Given the description of an element on the screen output the (x, y) to click on. 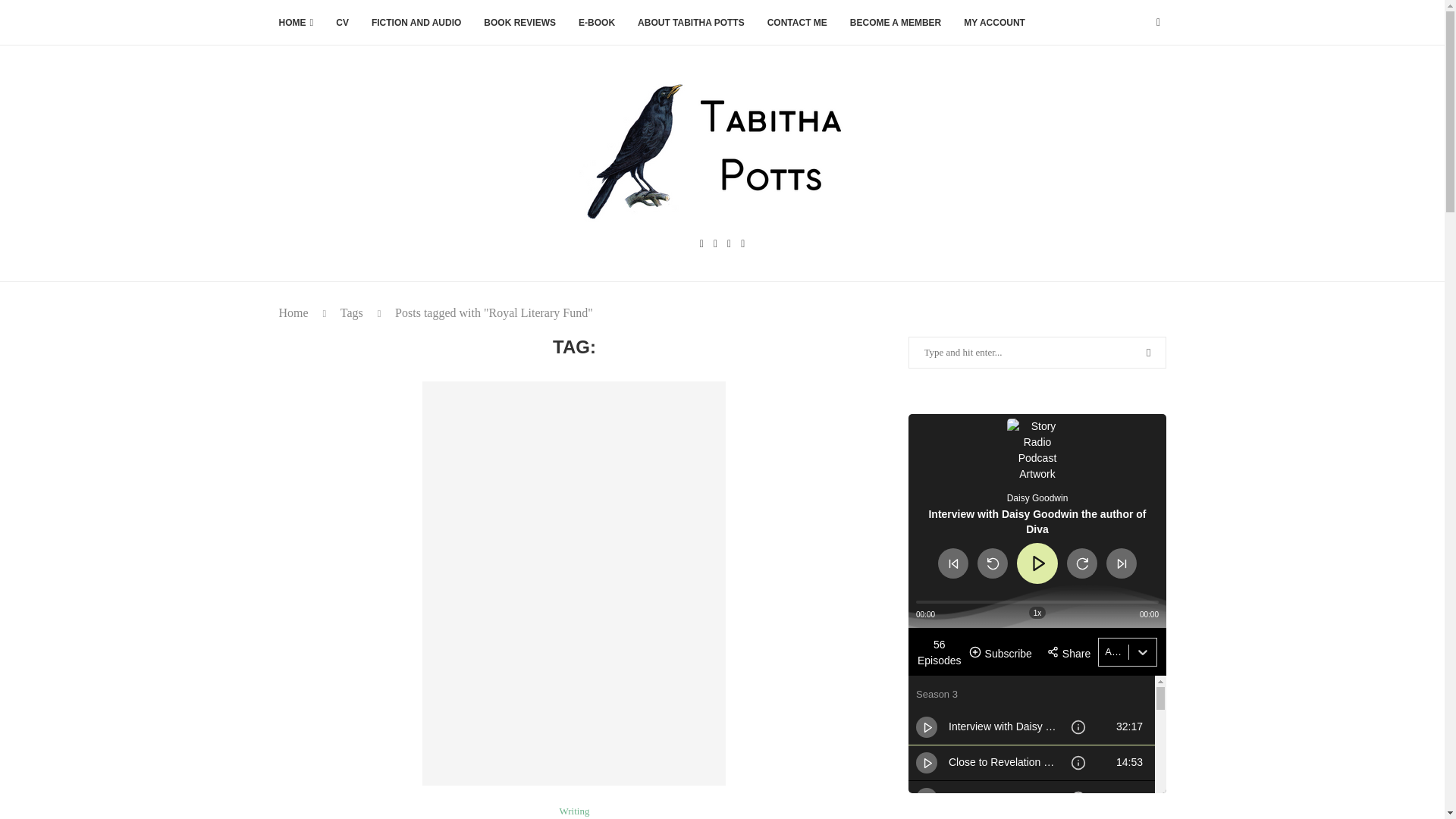
Search (128, 15)
CONTACT ME (797, 22)
MY ACCOUNT (994, 22)
FICTION AND AUDIO (416, 22)
Home (293, 312)
BECOME A MEMBER (895, 22)
Writing (574, 811)
BOOK REVIEWS (519, 22)
ABOUT TABITHA POTTS (690, 22)
